Given the description of an element on the screen output the (x, y) to click on. 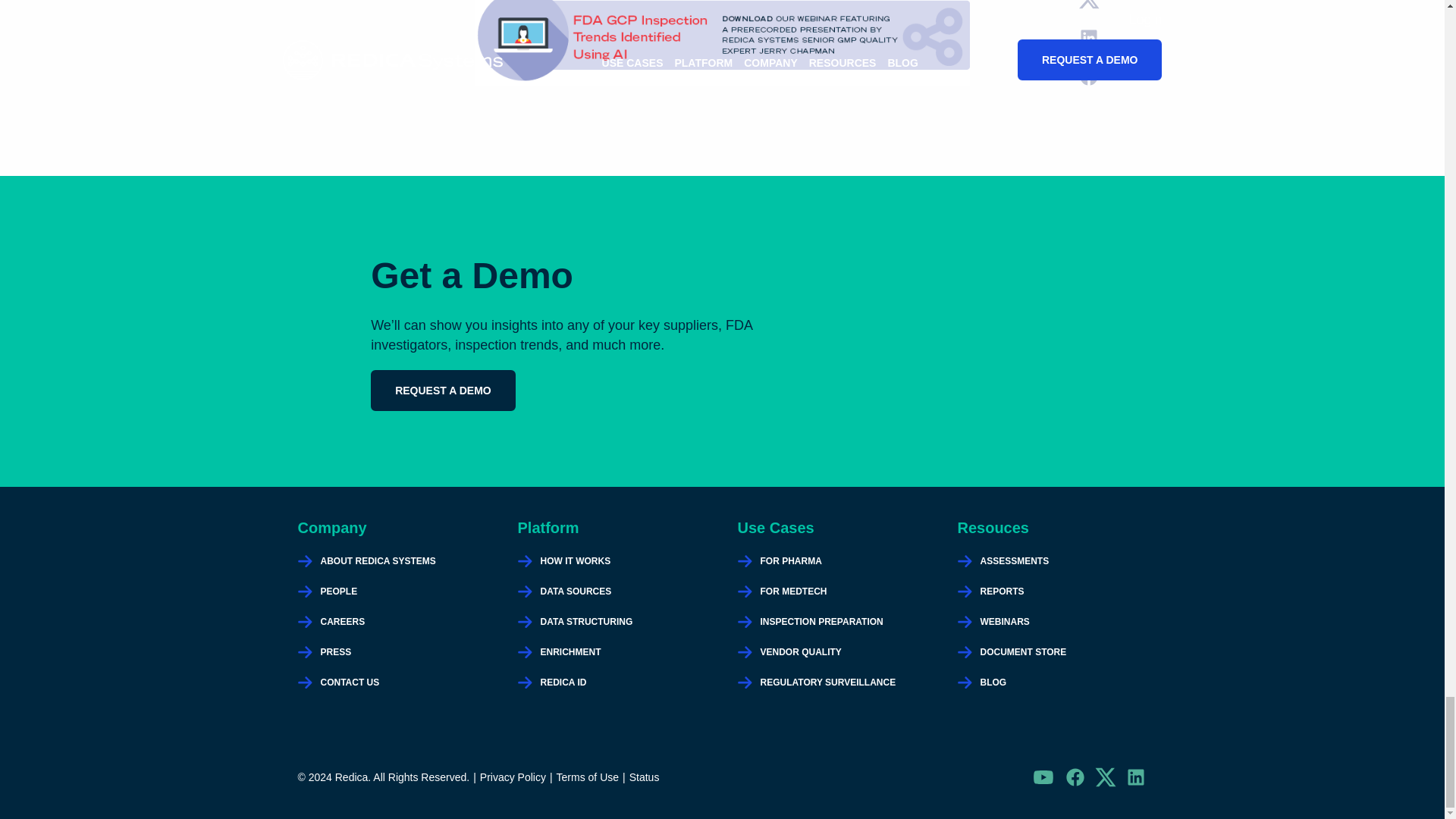
X (1104, 776)
YouTube (1043, 776)
LinkedIn (1135, 776)
Facebook (1074, 776)
